Given the description of an element on the screen output the (x, y) to click on. 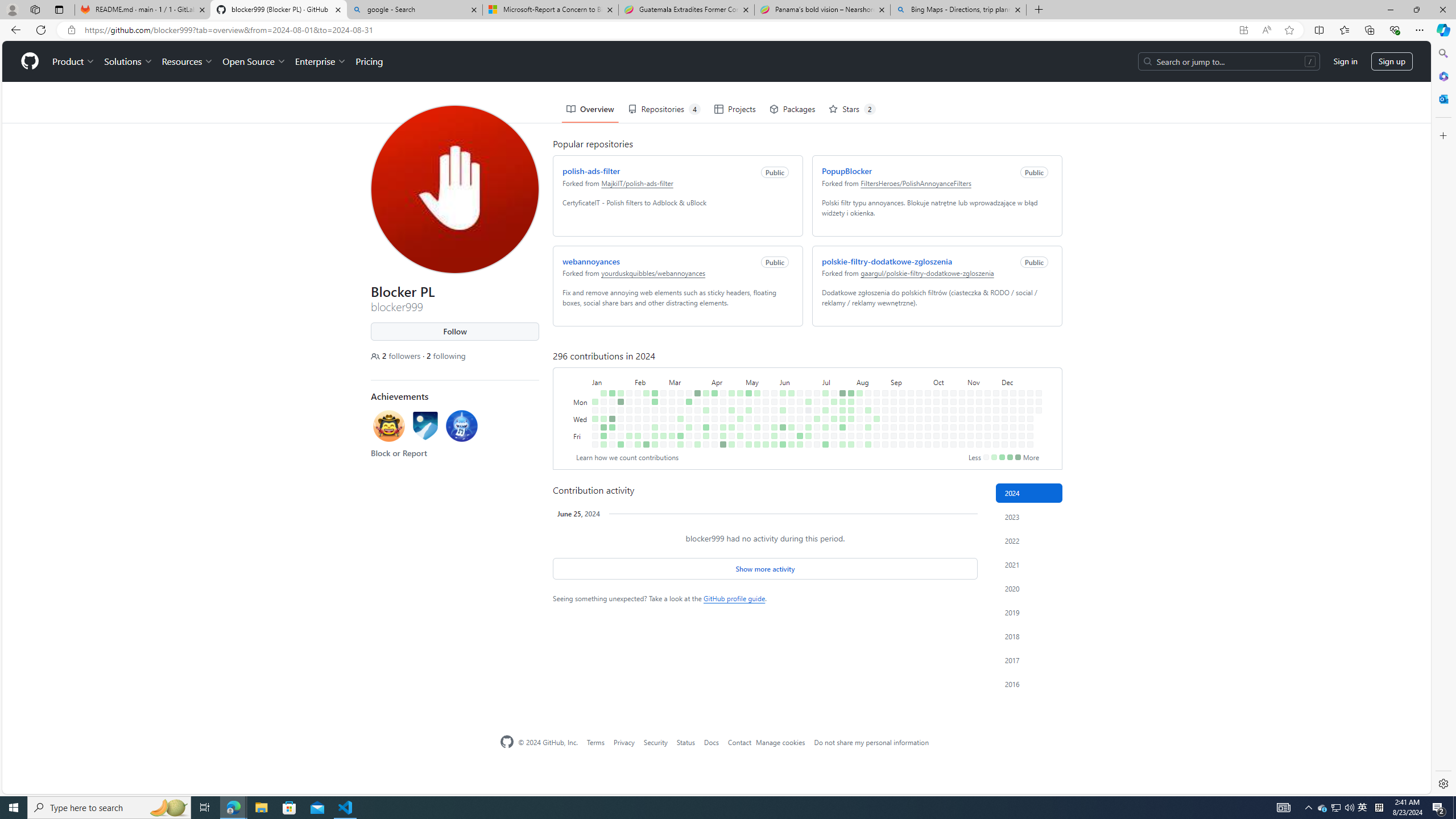
No contributions on April 9th. (711, 369)
No contributions on April 12th. (711, 394)
No contributions on December 14th. (1013, 444)
12 contributions on April 20th. (723, 444)
No contributions on December 31st. (1036, 369)
Contribution activity in 2024 (1028, 492)
No contributions on November 8th. (970, 435)
No contributions on October 2nd. (925, 377)
No contributions on January 23rd. (618, 369)
2020 (1028, 588)
No contributions on July 8th. (823, 360)
No contributions on December 12th. (1010, 386)
No contributions on October 22nd. (950, 369)
No contributions on October 17th. (942, 386)
